Given the description of an element on the screen output the (x, y) to click on. 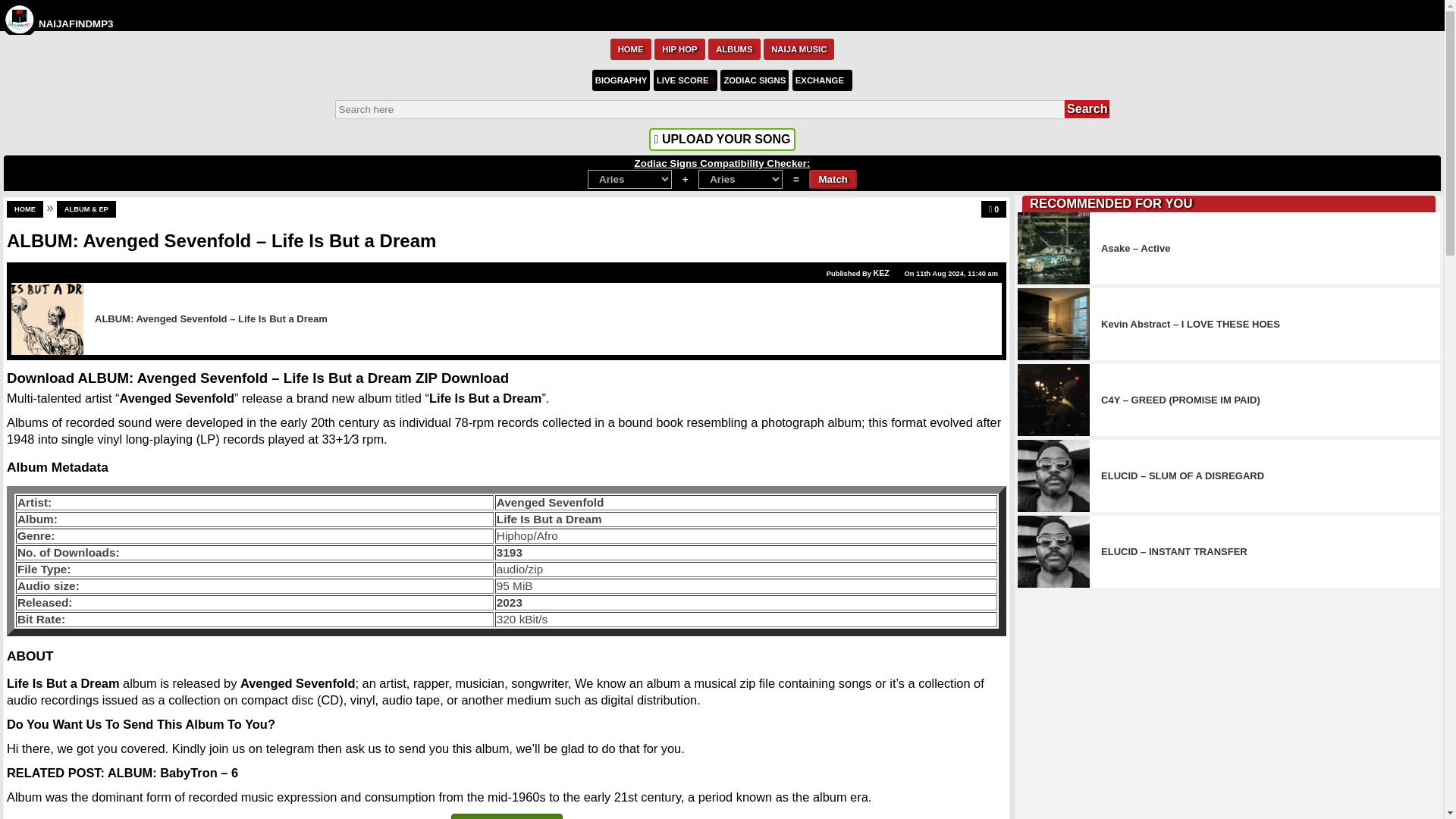
ZODIAC SIGNS (754, 78)
NAIJA MUSIC (798, 47)
Search (1086, 108)
BIOGRAPHY (621, 78)
Match (833, 179)
EXCHANGE (822, 78)
HIP HOP (678, 47)
DOWNLOAD (506, 816)
ALBUMS (733, 47)
Search (1086, 108)
